Given the description of an element on the screen output the (x, y) to click on. 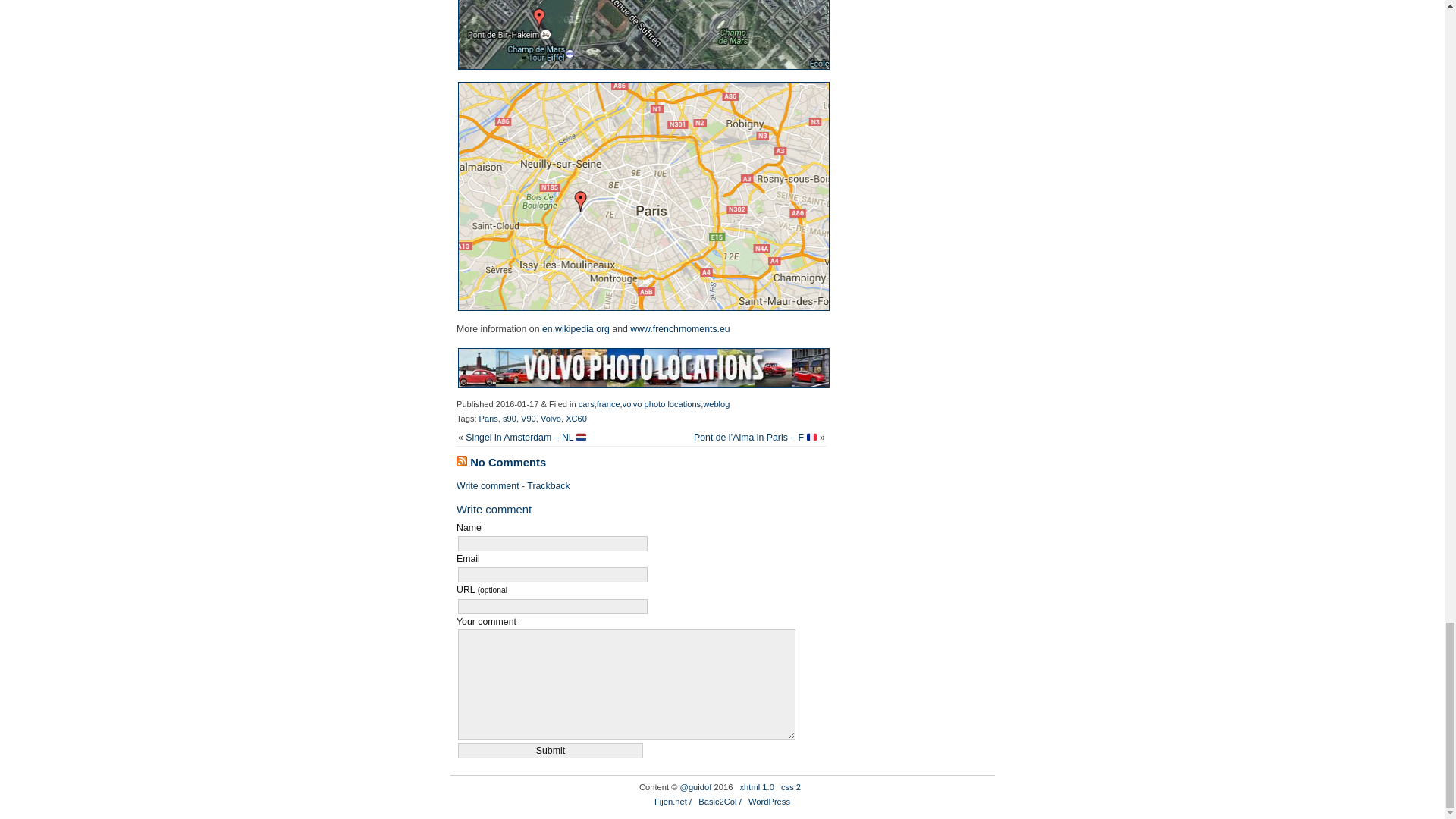
Write comment (488, 485)
s90 (509, 418)
Volvo (550, 418)
volvo photo locations (661, 403)
Trackback (548, 485)
www.frenchmoments.eu (679, 328)
XC60 (576, 418)
weblog (716, 403)
Submit (550, 750)
cars (586, 403)
Submit (550, 750)
france (608, 403)
en.wikipedia.org (575, 328)
V90 (528, 418)
Paris (488, 418)
